Given the description of an element on the screen output the (x, y) to click on. 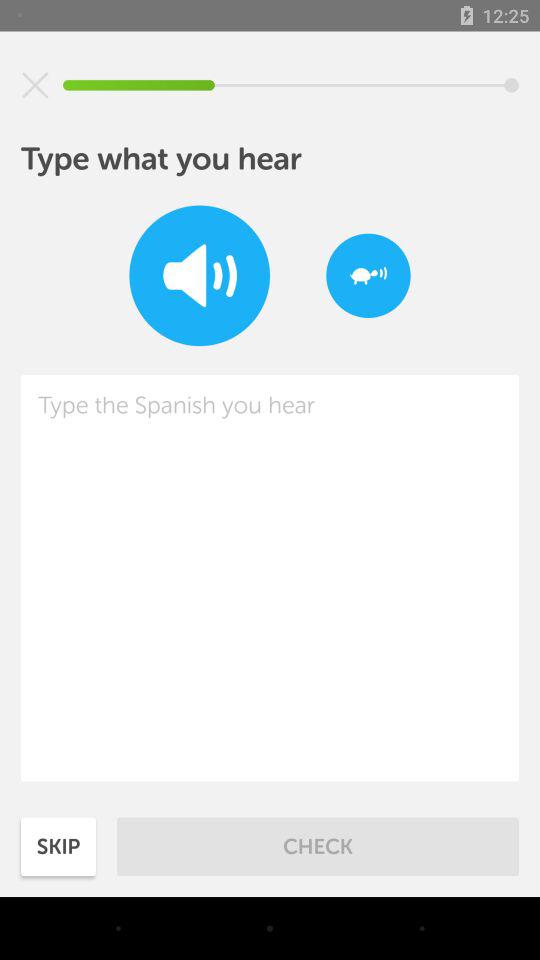
swipe until check icon (318, 846)
